Given the description of an element on the screen output the (x, y) to click on. 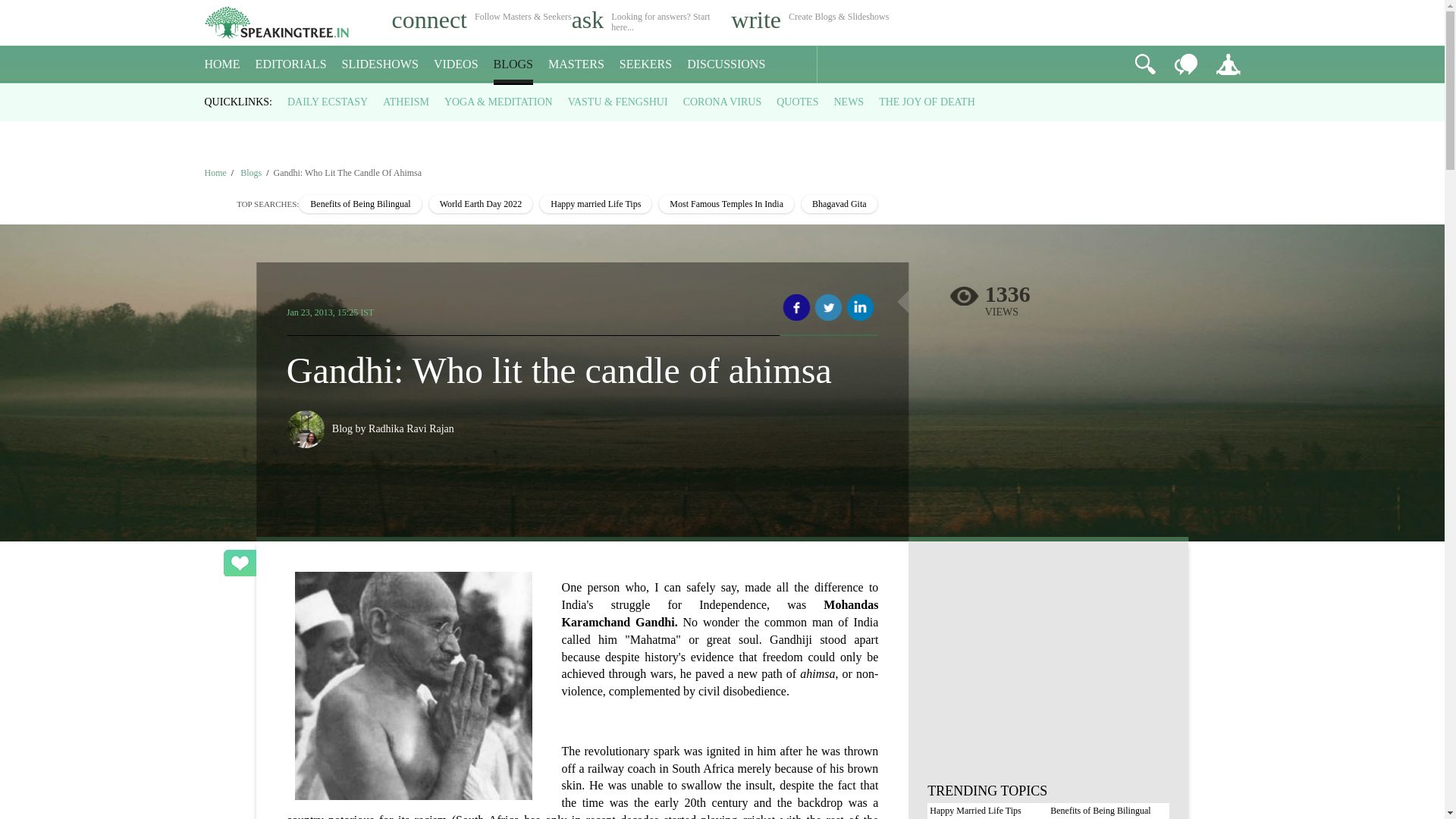
ATHEISM (405, 101)
Share on Twitter (828, 307)
3rd party ad content (721, 124)
Share on LinkedIn (860, 307)
Share on Facebook (796, 307)
SEEKERS (645, 64)
HOME (222, 64)
3rd party ad content (1047, 674)
NEWS (847, 101)
QUOTES (797, 101)
EDITORIALS (291, 64)
THE JOY OF DEATH (927, 101)
DISCUSSIONS (726, 64)
CORONA VIRUS (721, 101)
VIDEOS (456, 64)
